Given the description of an element on the screen output the (x, y) to click on. 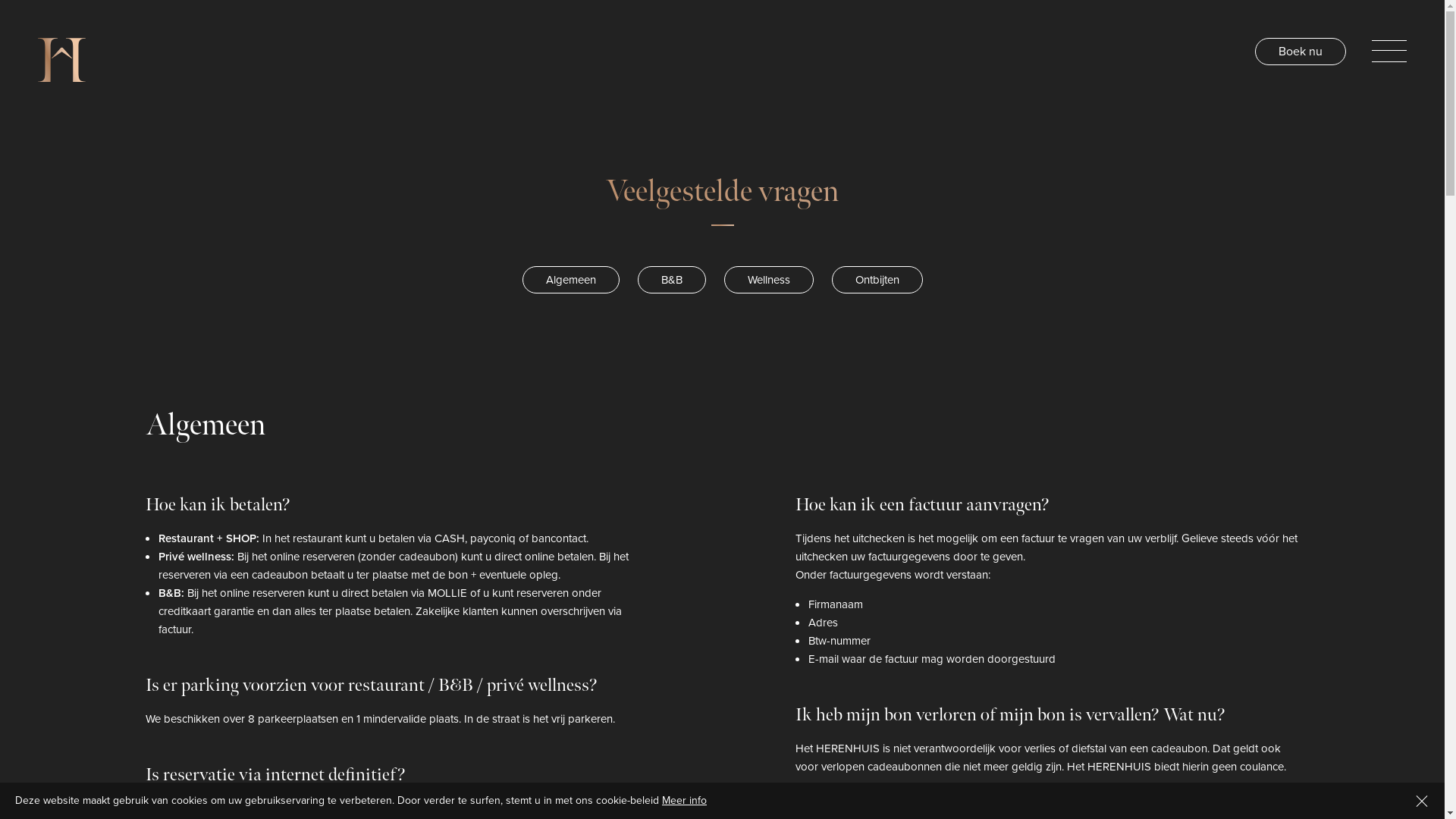
Wellness Element type: text (767, 279)
Herenhuis Element type: text (61, 62)
Close Element type: text (1421, 800)
Boek nu Element type: text (1300, 51)
Algemeen Element type: text (569, 279)
Ontbijten Element type: text (876, 279)
B&B Element type: text (671, 279)
Meer info Element type: text (684, 800)
nav Element type: text (1388, 50)
